Given the description of an element on the screen output the (x, y) to click on. 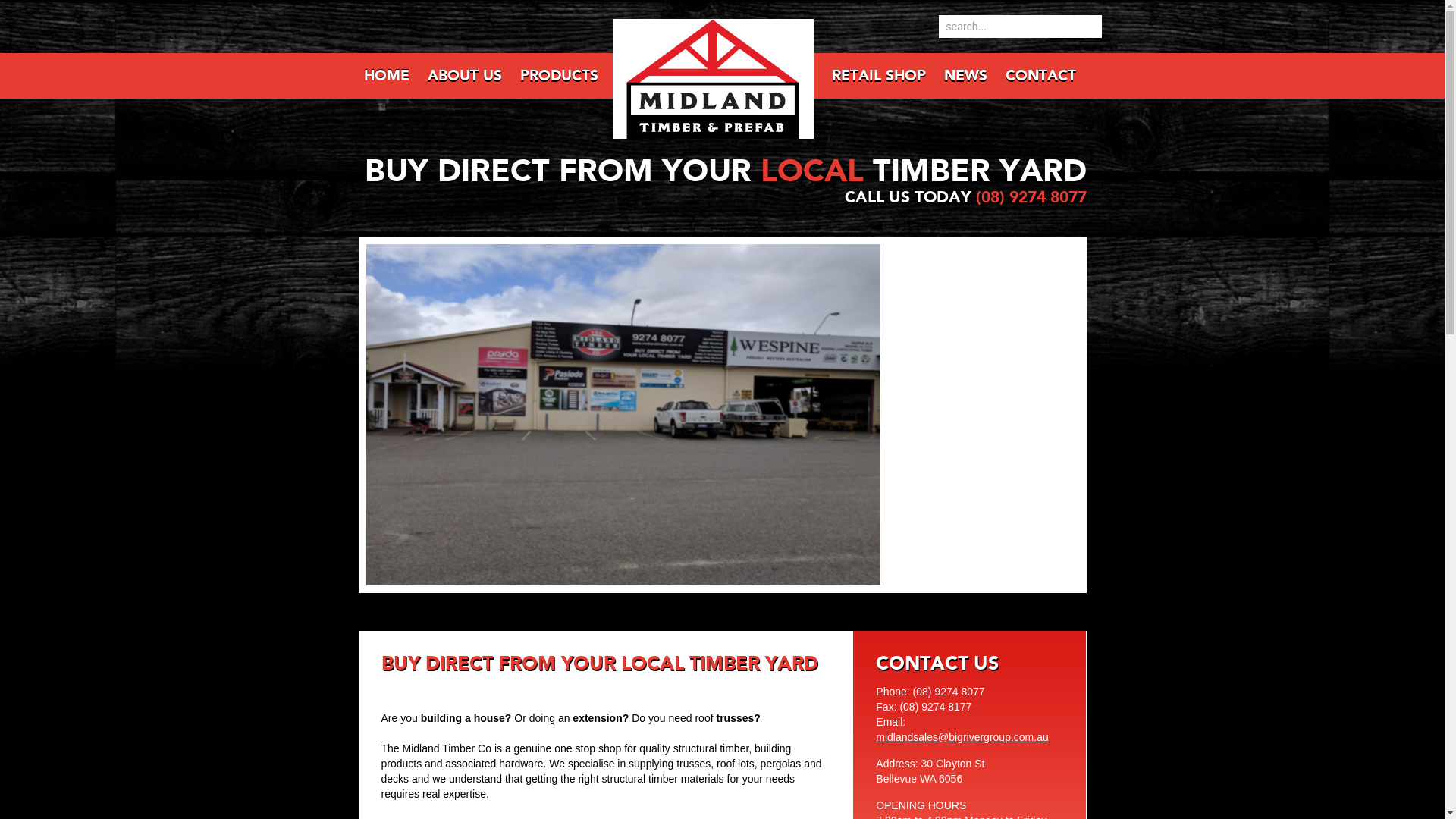
PRODUCTS Element type: text (557, 75)
Reset Element type: text (3, 3)
ABOUT US Element type: text (463, 75)
HOME Element type: text (389, 75)
NEWS Element type: text (963, 75)
RETAIL SHOP Element type: text (876, 75)
midlandsales@bigrivergroup.com.au Element type: text (961, 737)
CONTACT Element type: text (1039, 75)
